Given the description of an element on the screen output the (x, y) to click on. 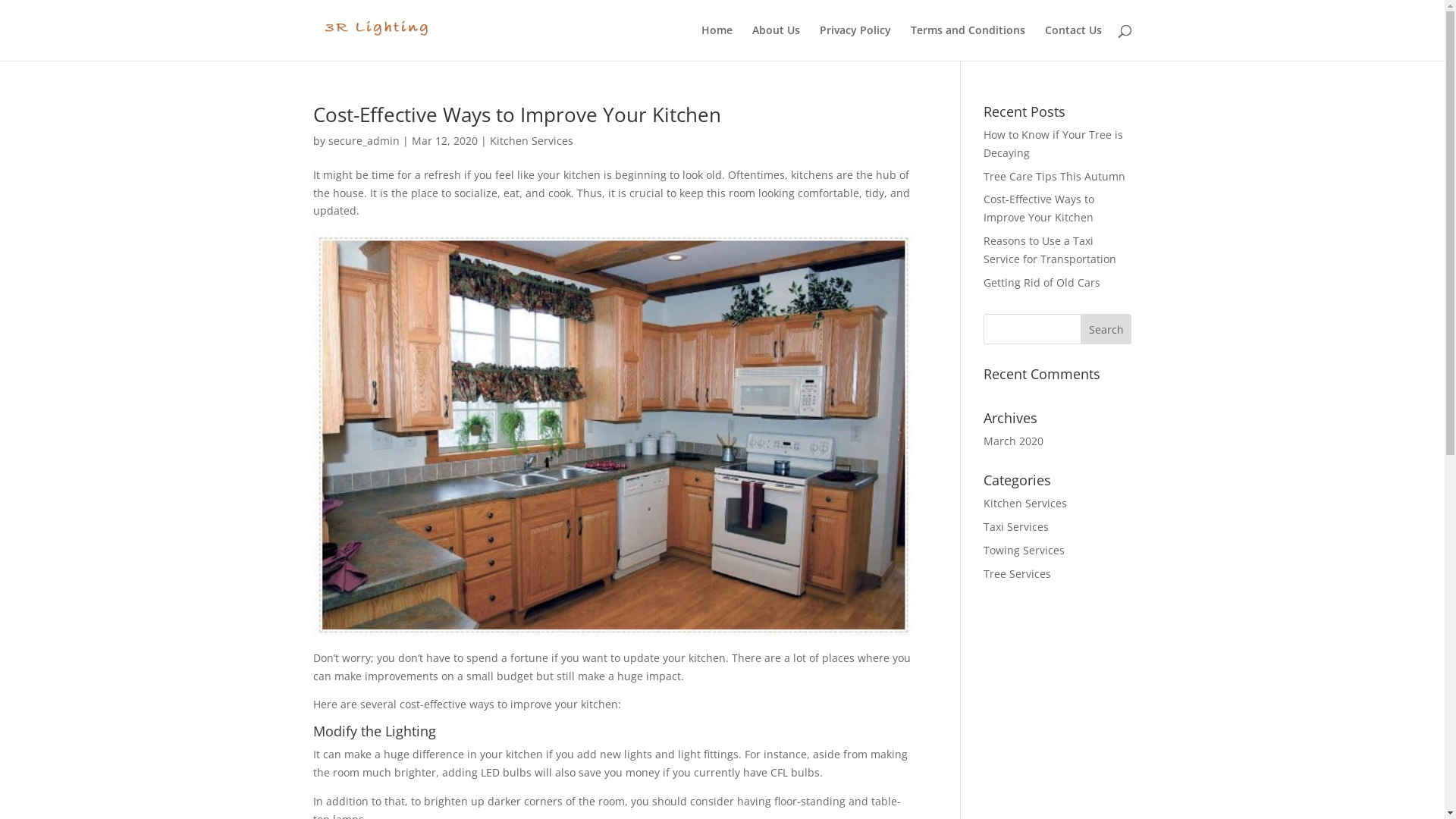
Reasons to Use a Taxi Service for Transportation Element type: text (1049, 249)
Tree Services Element type: text (1017, 573)
Cost-Effective Ways to Improve Your Kitchen Element type: text (1038, 207)
Cost-Effective Ways to Improve Your Kitchen Element type: text (516, 114)
Kitchen Services Element type: text (531, 140)
Home Element type: text (715, 42)
Terms and Conditions Element type: text (967, 42)
How to Know if Your Tree is Decaying Element type: text (1053, 143)
Kitchen Services Element type: text (1024, 502)
Contact Us Element type: text (1072, 42)
Getting Rid of Old Cars Element type: text (1041, 282)
Towing Services Element type: text (1023, 549)
Taxi Services Element type: text (1015, 526)
Privacy Policy Element type: text (854, 42)
Tree Care Tips This Autumn Element type: text (1054, 176)
Search Element type: text (1106, 328)
secure_admin Element type: text (362, 140)
March 2020 Element type: text (1013, 440)
About Us Element type: text (776, 42)
